Given the description of an element on the screen output the (x, y) to click on. 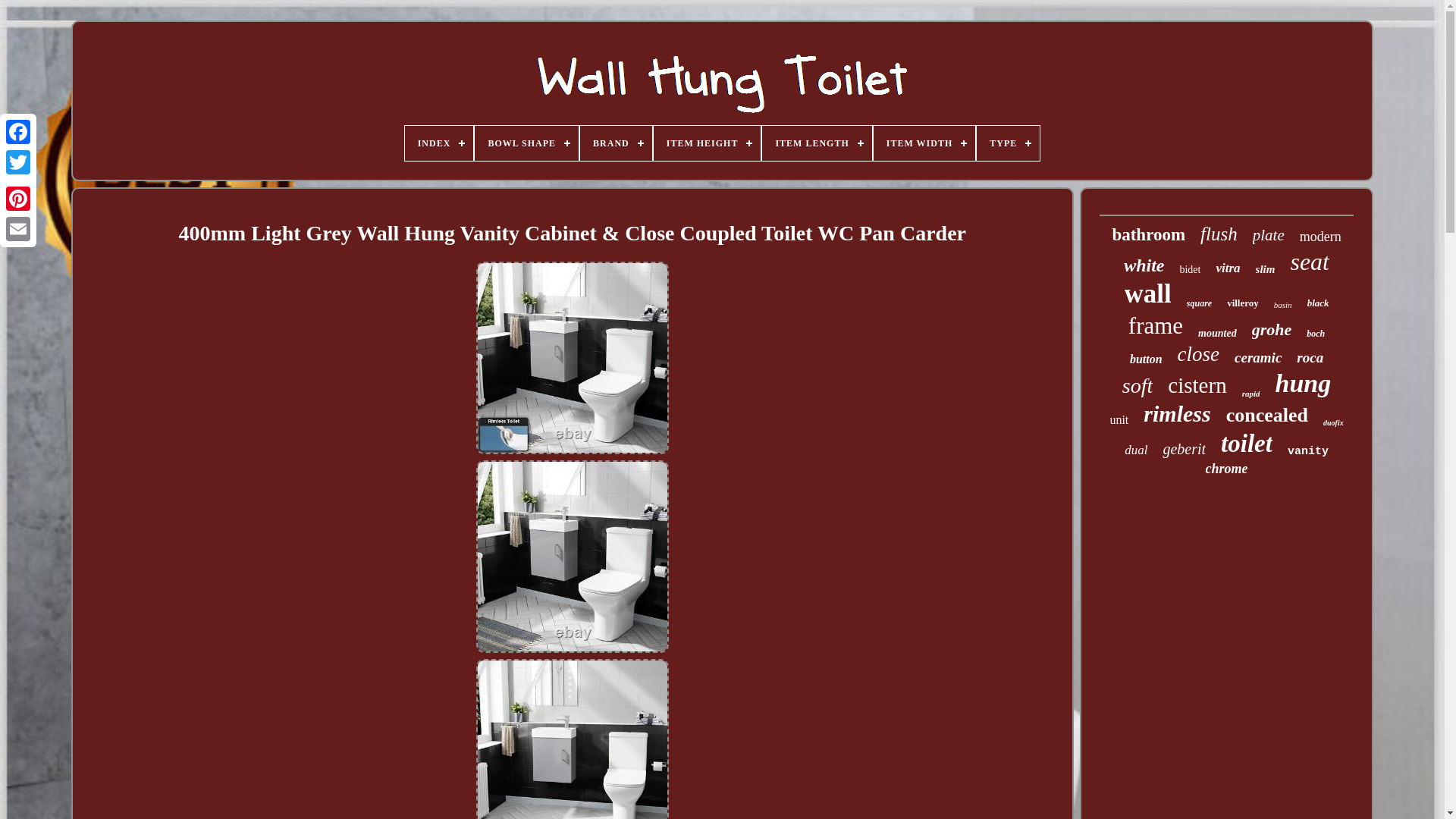
INDEX (439, 143)
BOWL SHAPE (526, 143)
BRAND (615, 143)
